Given the description of an element on the screen output the (x, y) to click on. 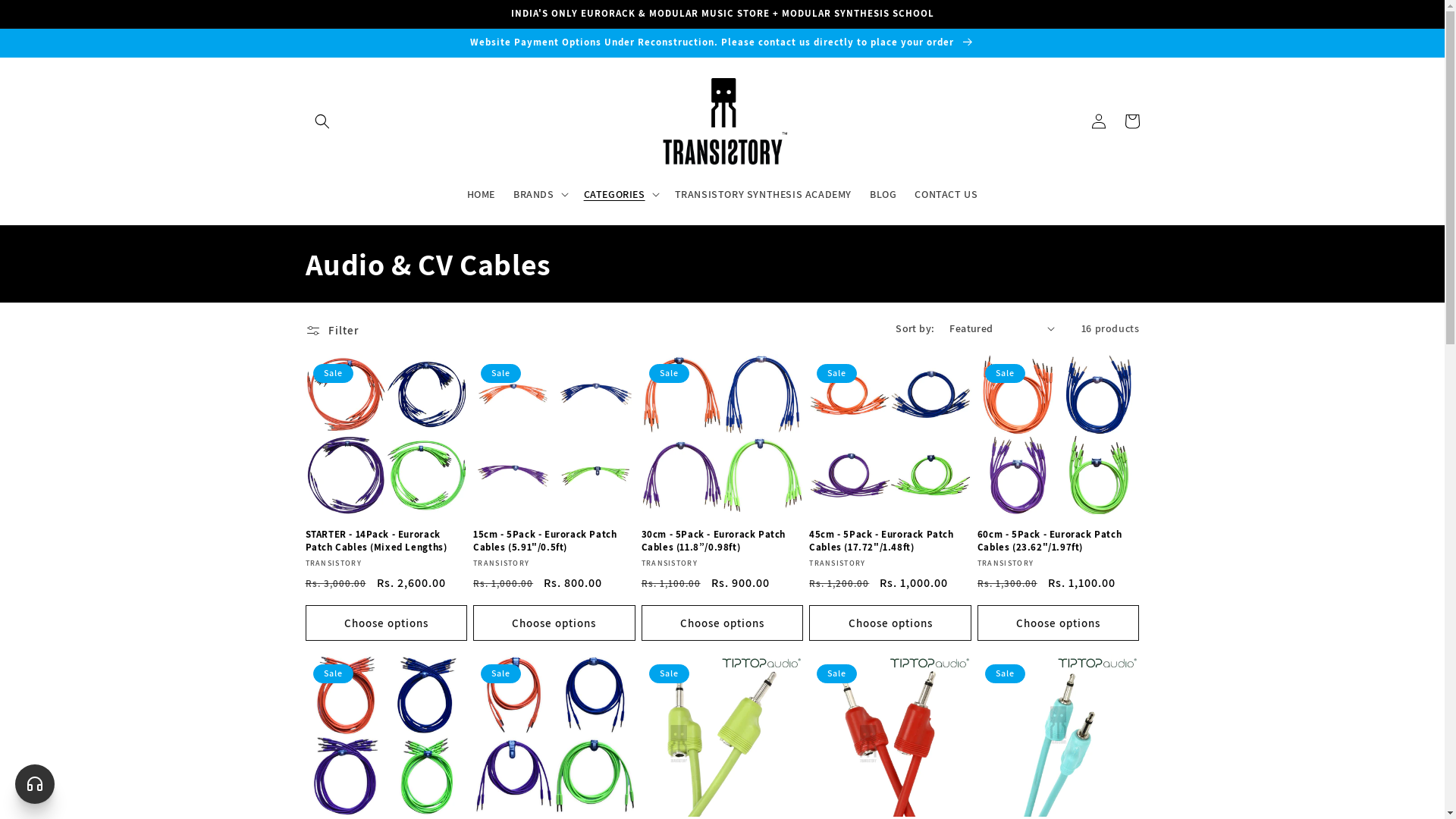
CONTACT US Element type: text (945, 193)
Choose options Element type: text (890, 622)
Log in Element type: text (1097, 121)
STARTER - 14Pack - Eurorack Patch Cables (Mixed Lengths) Element type: text (385, 541)
Choose options Element type: text (554, 622)
TRANSISTORY SYNTHESIS ACADEMY Element type: text (762, 193)
45cm - 5Pack - Eurorack Patch Cables (17.72"/1.48ft) Element type: text (890, 541)
BLOG Element type: text (882, 193)
HOME Element type: text (481, 193)
Choose options Element type: text (722, 622)
Cart Element type: text (1131, 121)
60cm - 5Pack - Eurorack Patch Cables (23.62"/1.97ft) Element type: text (1058, 541)
Choose options Element type: text (1058, 622)
15cm - 5Pack - Eurorack Patch Cables (5.91"/0.5ft) Element type: text (554, 541)
Choose options Element type: text (385, 622)
